Given the description of an element on the screen output the (x, y) to click on. 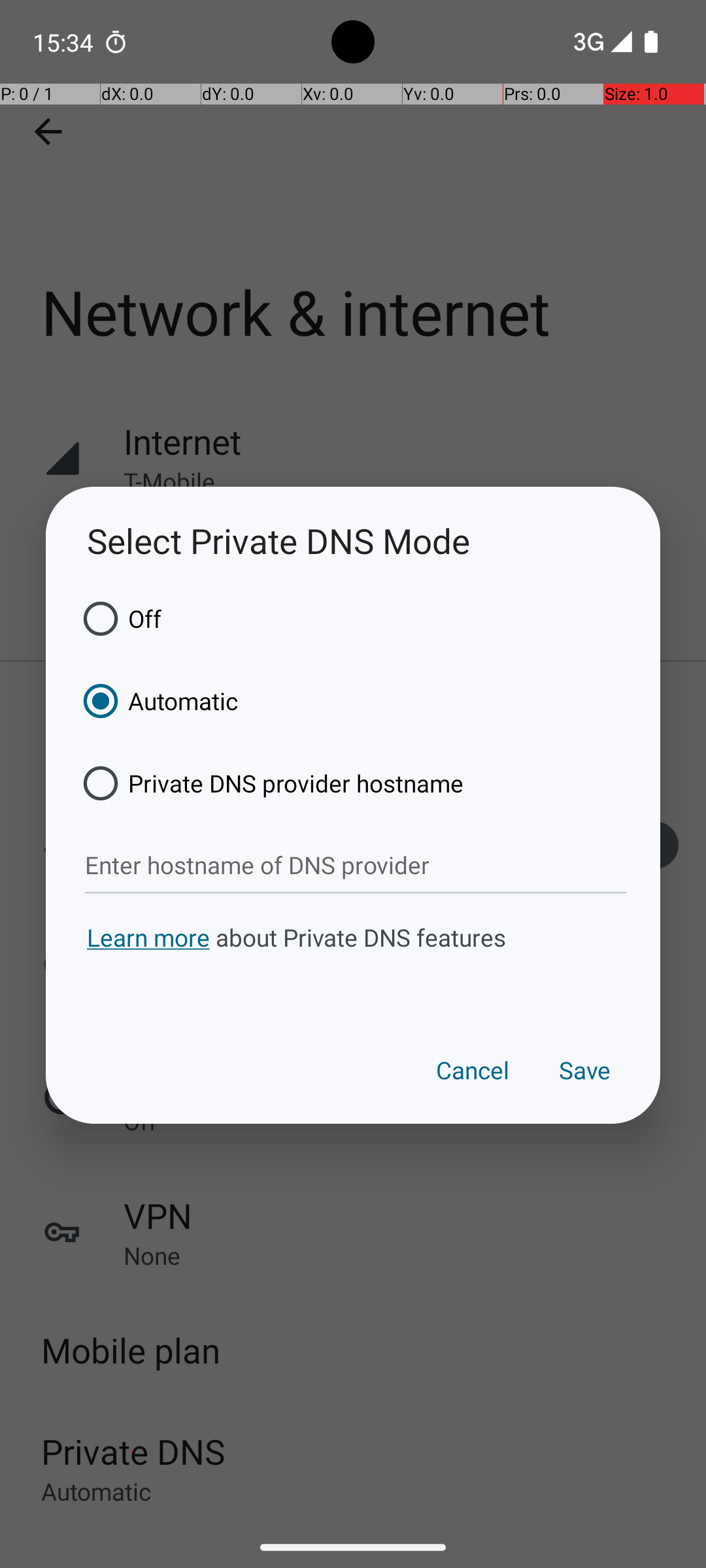
Select Private DNS Mode Element type: android.widget.TextView (352, 540)
Learn more about Private DNS features Element type: android.widget.TextView (352, 961)
Private DNS provider hostname Element type: android.widget.RadioButton (268, 783)
Enter hostname of DNS provider Element type: android.widget.EditText (355, 865)
